Given the description of an element on the screen output the (x, y) to click on. 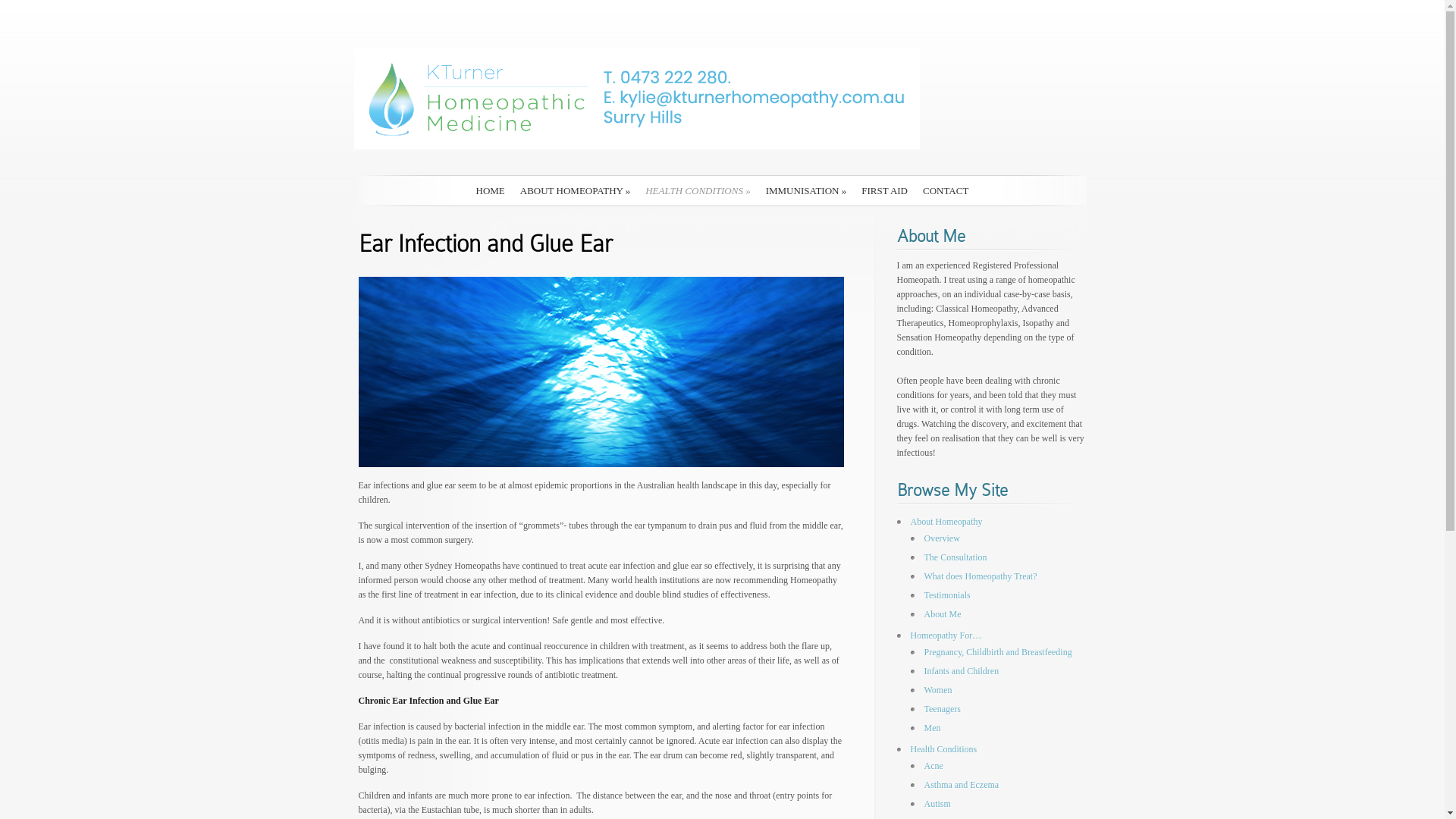
Overview Element type: text (941, 538)
Testimonials Element type: text (946, 594)
Teenagers Element type: text (941, 708)
Health Conditions Element type: text (943, 748)
Acne Element type: text (932, 765)
Infants and Children Element type: text (960, 670)
Women Element type: text (937, 689)
Men Element type: text (931, 727)
About Homeopathy Element type: text (946, 521)
The Consultation Element type: text (954, 557)
HOME Element type: text (490, 190)
Asthma and Eczema Element type: text (960, 784)
FIRST AID Element type: text (884, 190)
About Me Element type: text (941, 613)
Pregnancy, Childbirth and Breastfeeding Element type: text (997, 651)
What does Homeopathy Treat? Element type: text (979, 576)
CONTACT Element type: text (945, 190)
Autism Element type: text (936, 803)
